Given the description of an element on the screen output the (x, y) to click on. 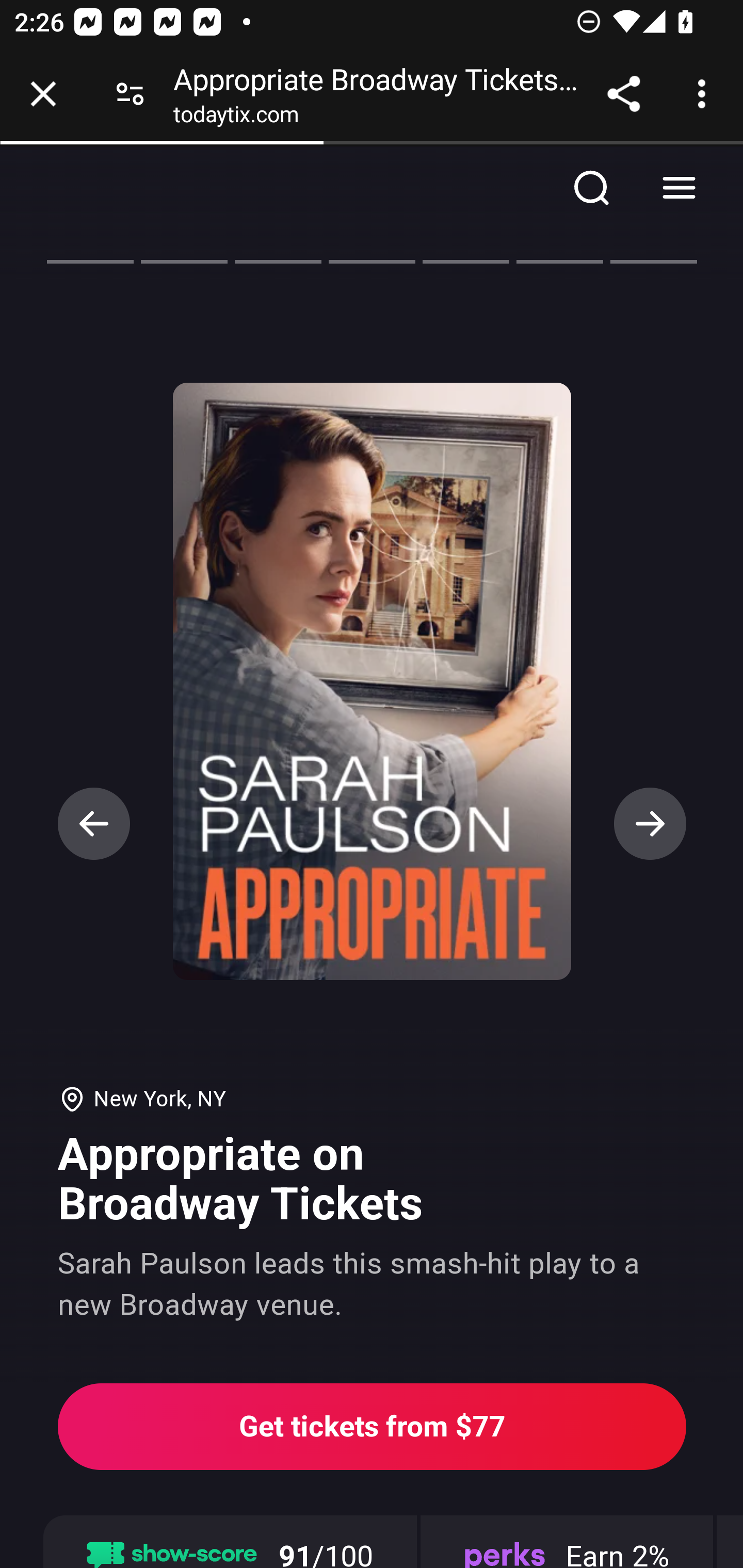
Close tab (43, 93)
Share link address (623, 93)
Customize and control Google Chrome (705, 93)
Connection is secure (129, 93)
todaytix.com (236, 117)
Get tickets from $77 (372, 1426)
